Given the description of an element on the screen output the (x, y) to click on. 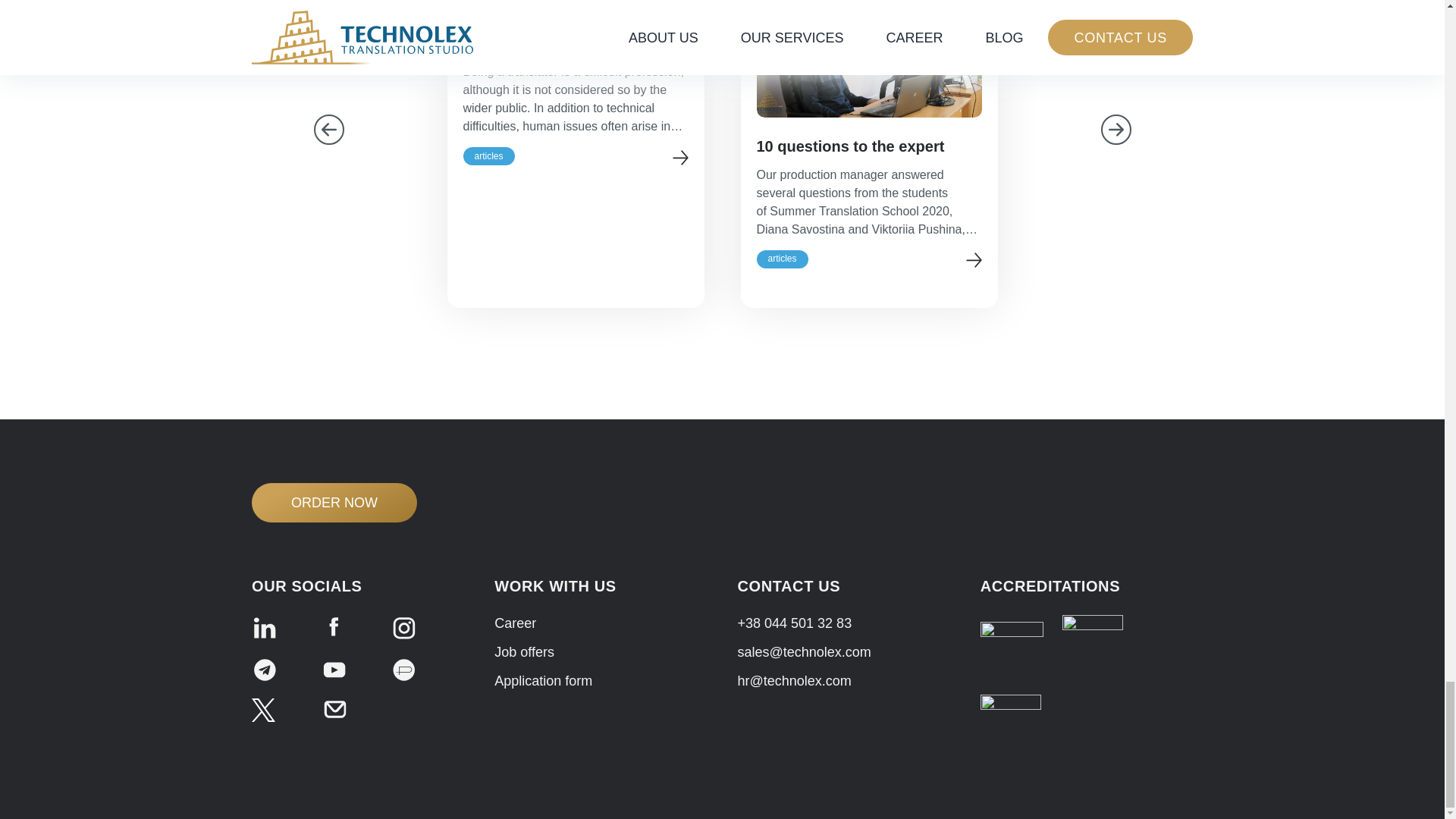
10 questions to the expert (869, 146)
